Given the description of an element on the screen output the (x, y) to click on. 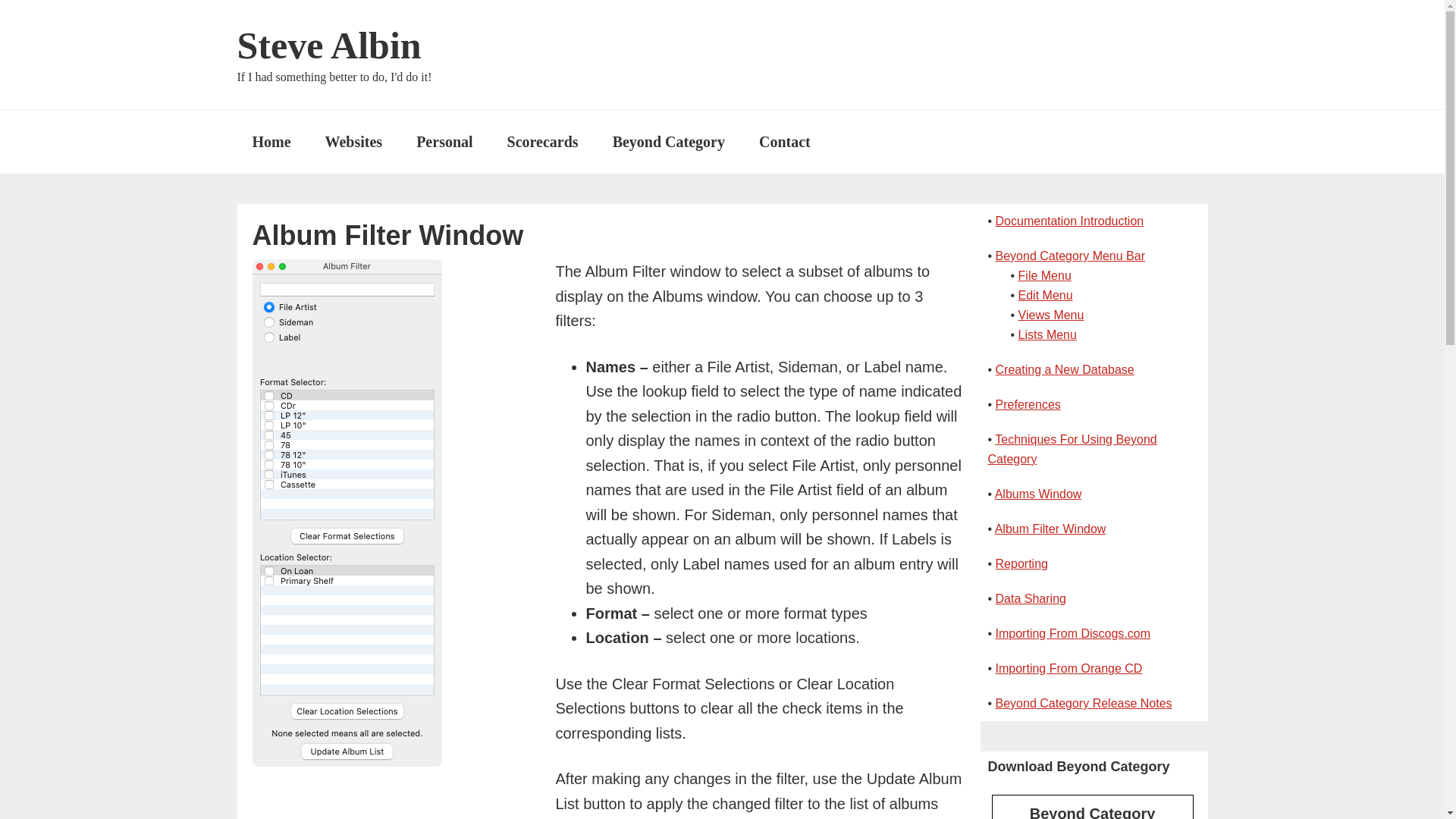
Creating a New Database (1064, 369)
Albums Window (1037, 493)
Album Filter Window (1050, 528)
Personal (444, 141)
Steve Albin (327, 45)
Beyond Category Menu Bar (1069, 255)
Edit Menu (1045, 295)
Contact (784, 141)
Views Menu (1050, 314)
